Given the description of an element on the screen output the (x, y) to click on. 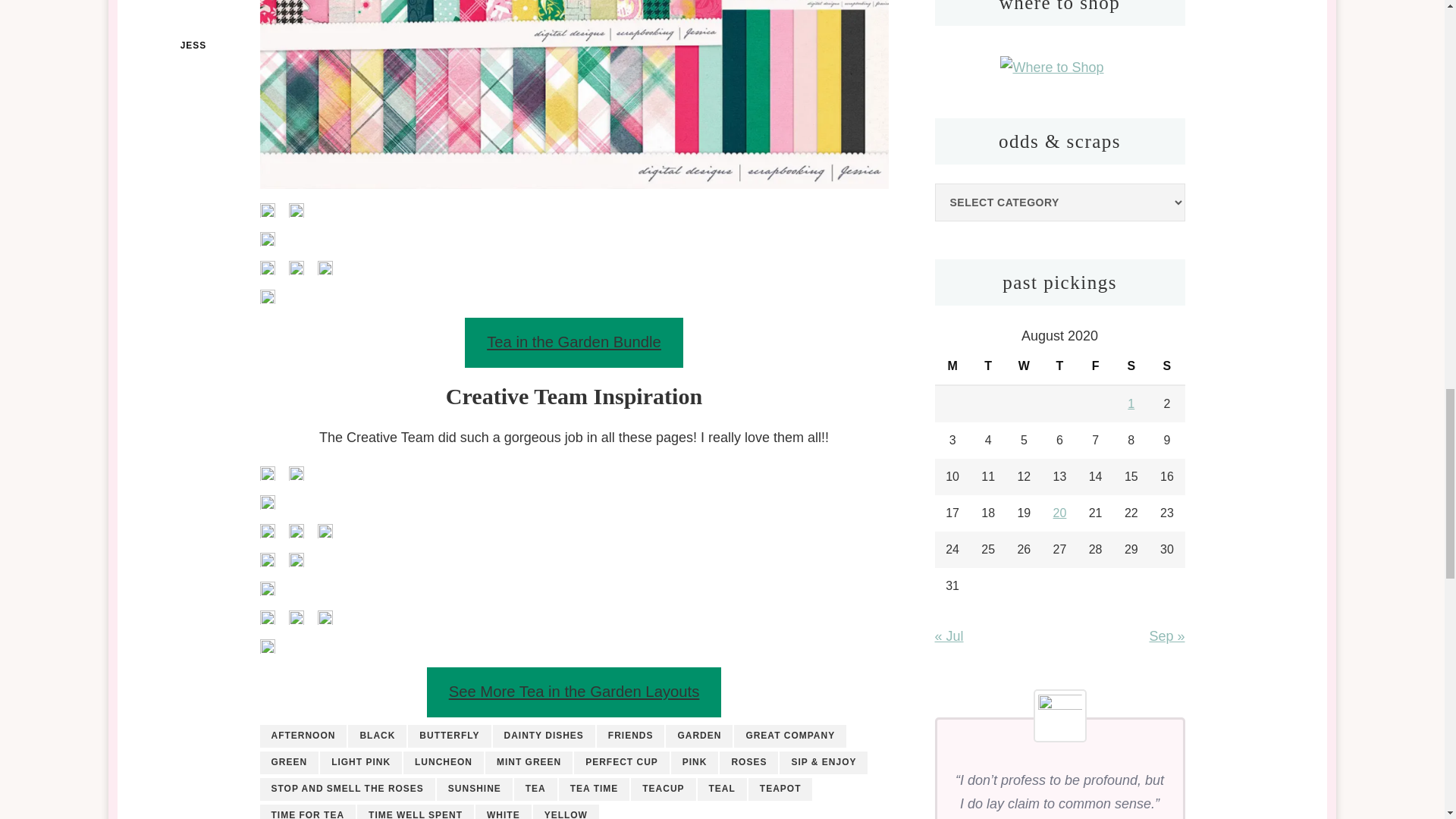
Thursday (1059, 366)
Wednesday (1024, 366)
Friday (1095, 366)
Saturday (1130, 366)
Sunday (1166, 366)
Monday (951, 366)
Tea in the Garden Bundle (573, 342)
Tuesday (988, 366)
